Given the description of an element on the screen output the (x, y) to click on. 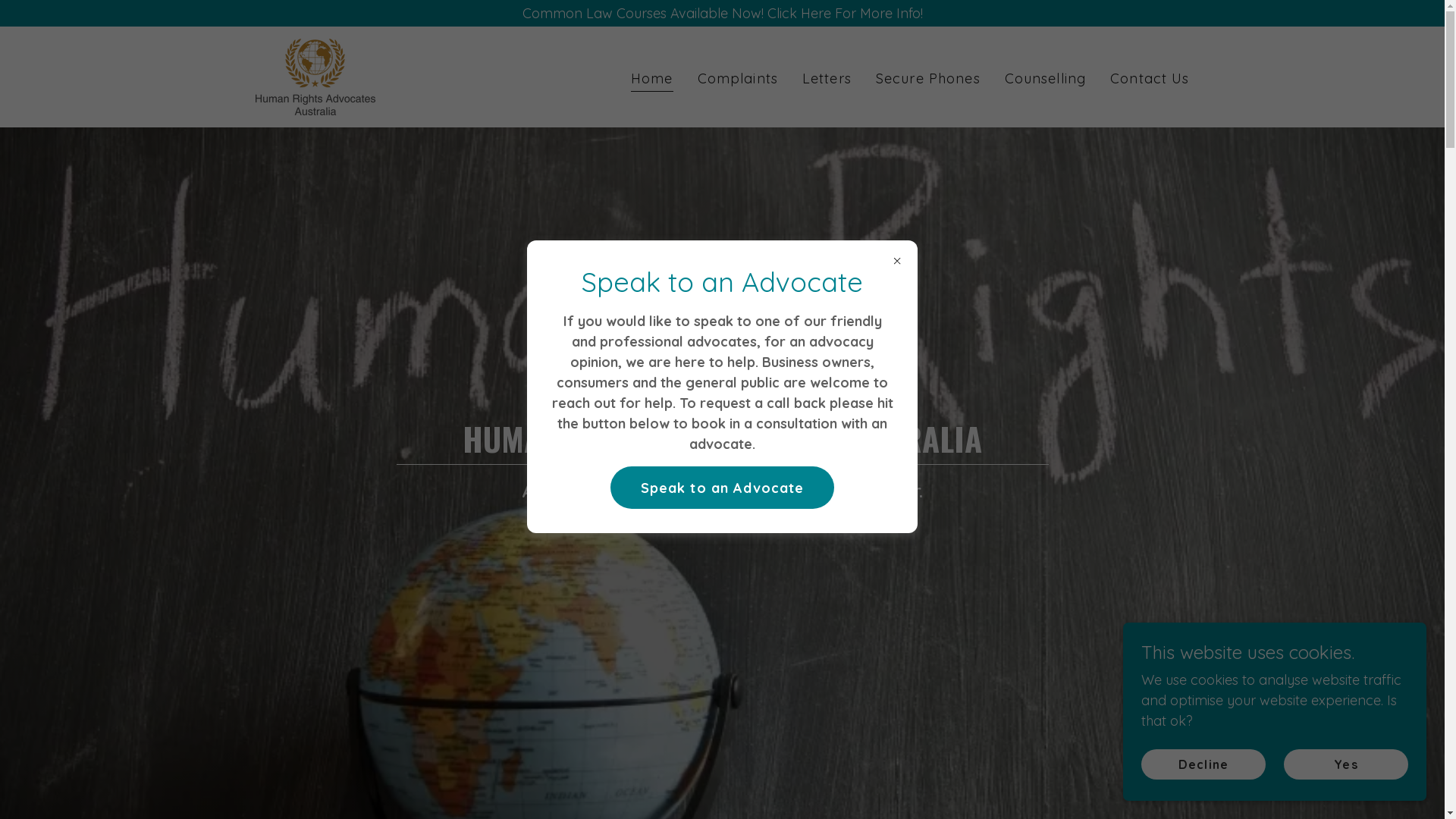
Contact Us Element type: text (1149, 78)
Human Rights Advocates Element type: hover (314, 75)
Letters Element type: text (826, 78)
Yes Element type: text (1345, 764)
Home Element type: text (651, 80)
Counselling Element type: text (1045, 78)
Speak to an Advocate Element type: text (722, 487)
Decline Element type: text (1203, 764)
Complaints Element type: text (737, 78)
Common Law Courses Available Now! Click Here For More Info! Element type: text (722, 13)
Secure Phones Element type: text (928, 78)
